Given the description of an element on the screen output the (x, y) to click on. 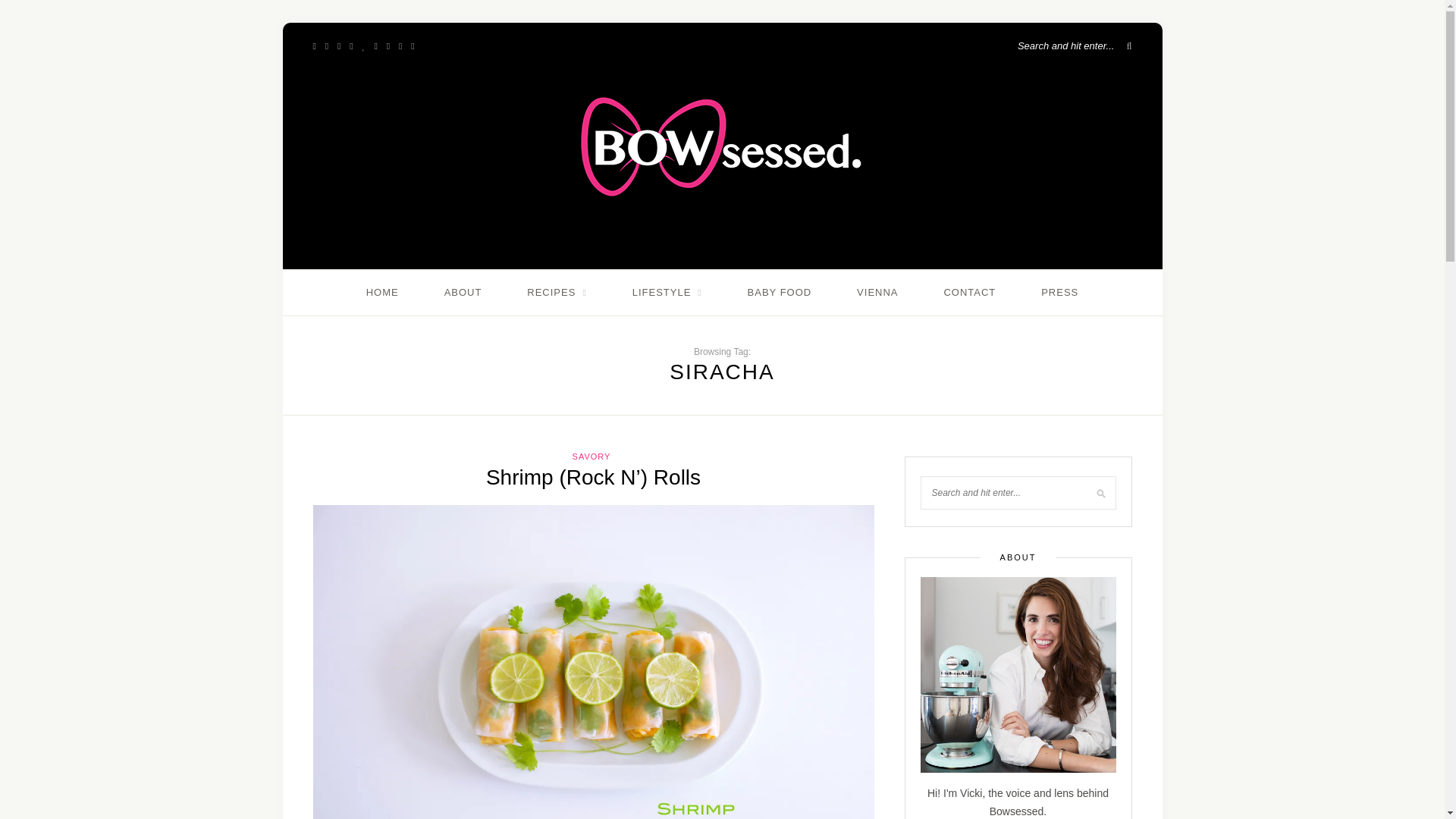
LIFESTYLE (666, 292)
CONTACT (969, 292)
SAVORY (591, 456)
BABY FOOD (780, 292)
VIENNA (877, 292)
RECIPES (556, 292)
